Given the description of an element on the screen output the (x, y) to click on. 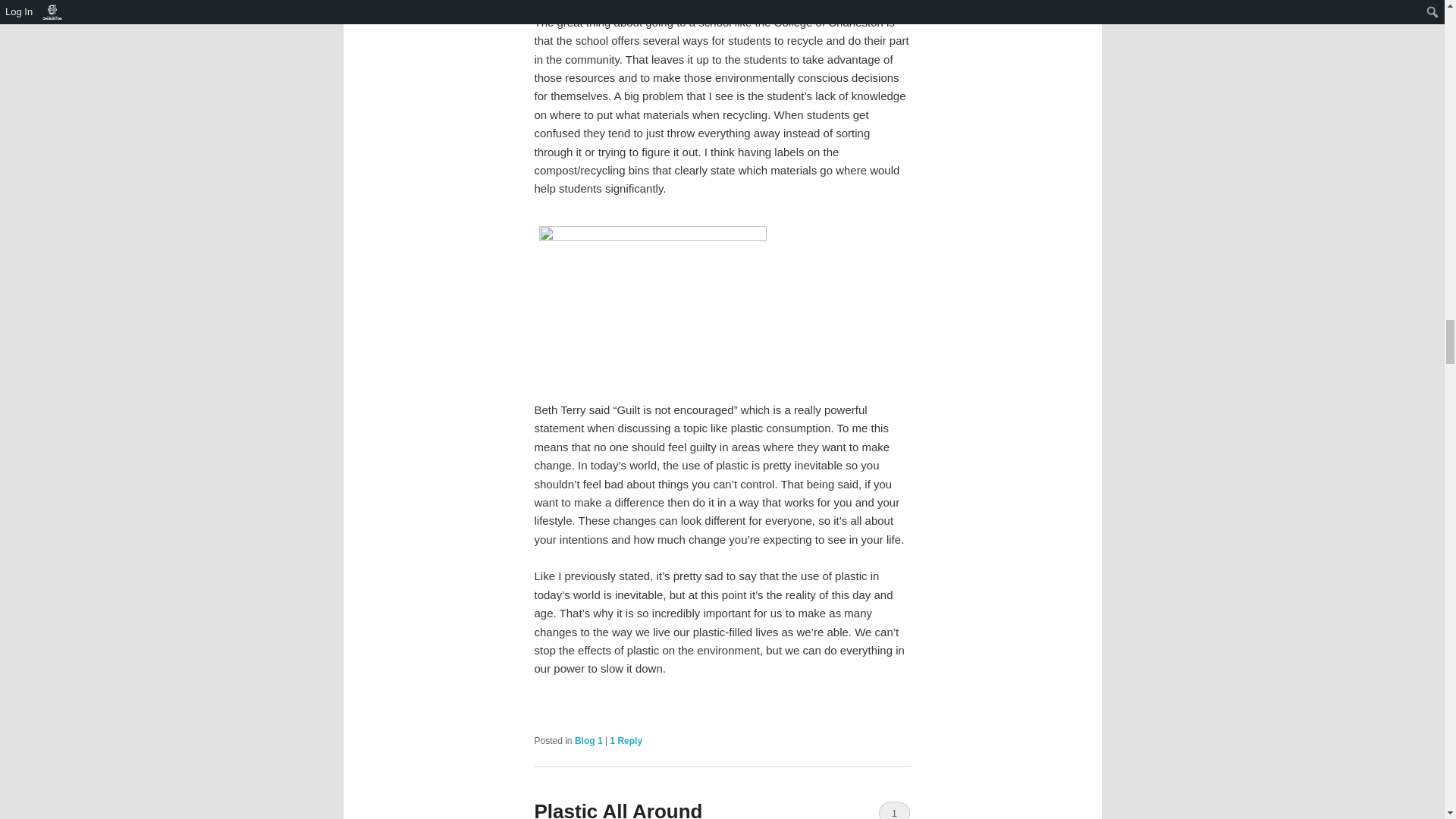
Blog 1 (588, 740)
1 Reply (626, 740)
Plastic All Around (617, 809)
Permalink to Plastic All Around (617, 809)
